Given the description of an element on the screen output the (x, y) to click on. 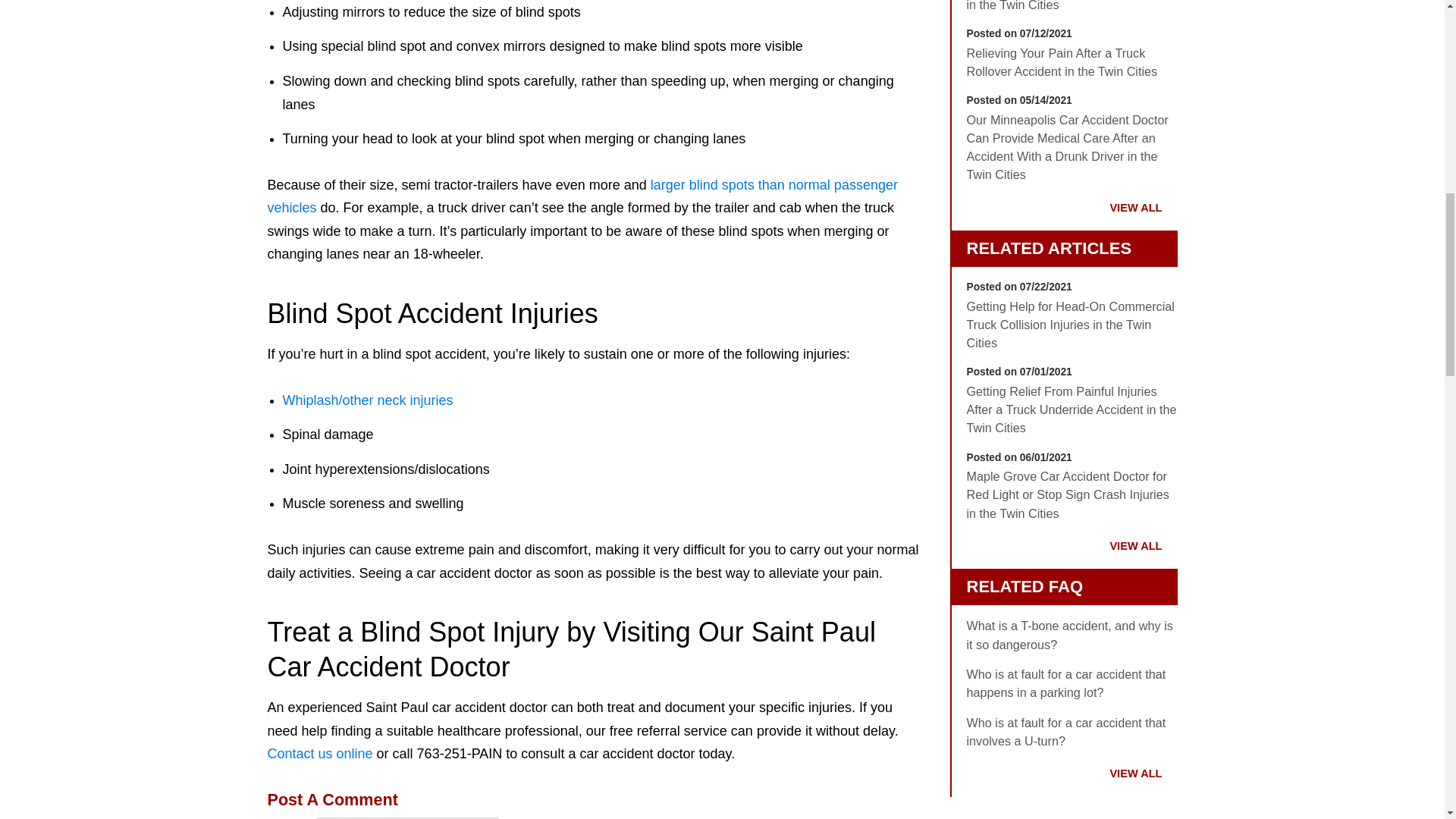
Who is at fault for a car accident that involves a U-turn? (1071, 732)
What is a T-bone accident, and why is it so dangerous? (1071, 634)
VIEW ALL (1135, 545)
VIEW ALL (1135, 773)
RELATED ARTICLES (1048, 248)
Contact us online (319, 753)
VIEW ALL (1135, 207)
RELATED FAQ (1024, 586)
